Given the description of an element on the screen output the (x, y) to click on. 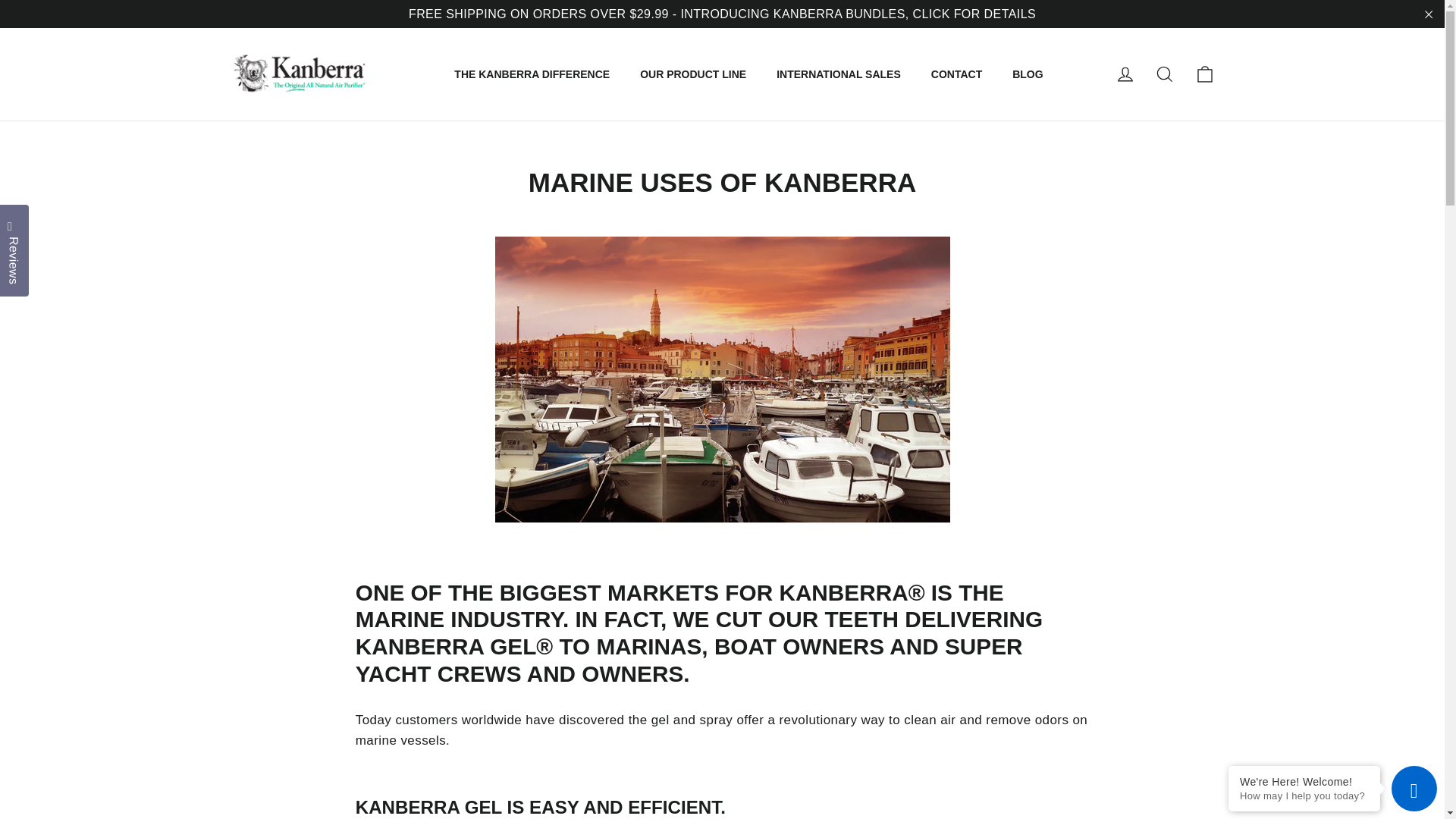
LOG IN (1124, 74)
INTERNATIONAL SALES (838, 74)
How may I help you today? (1304, 795)
CART (1204, 74)
THE KANBERRA DIFFERENCE (531, 74)
CONTACT (956, 74)
SEARCH (1164, 74)
BLOG (1027, 74)
We're Here!  Welcome! (1304, 781)
OUR PRODUCT LINE (692, 74)
